Given the description of an element on the screen output the (x, y) to click on. 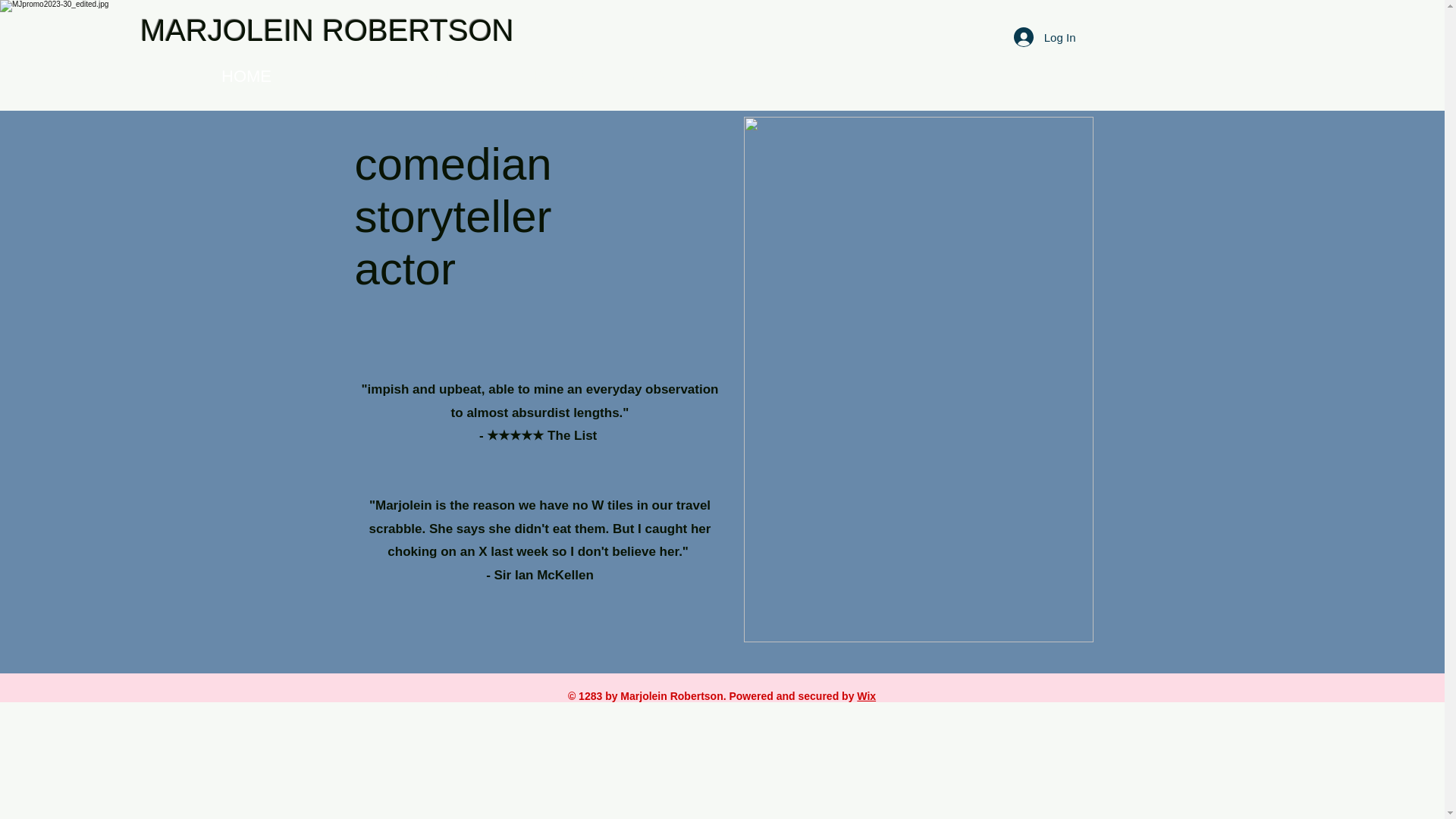
CONTACT (671, 76)
Wix (866, 695)
PHOTOS (550, 76)
ABOUT (440, 76)
TOUR (341, 76)
Log In (1044, 36)
MARJOLEIN ROBERTSON (326, 29)
HOME (246, 76)
